Given the description of an element on the screen output the (x, y) to click on. 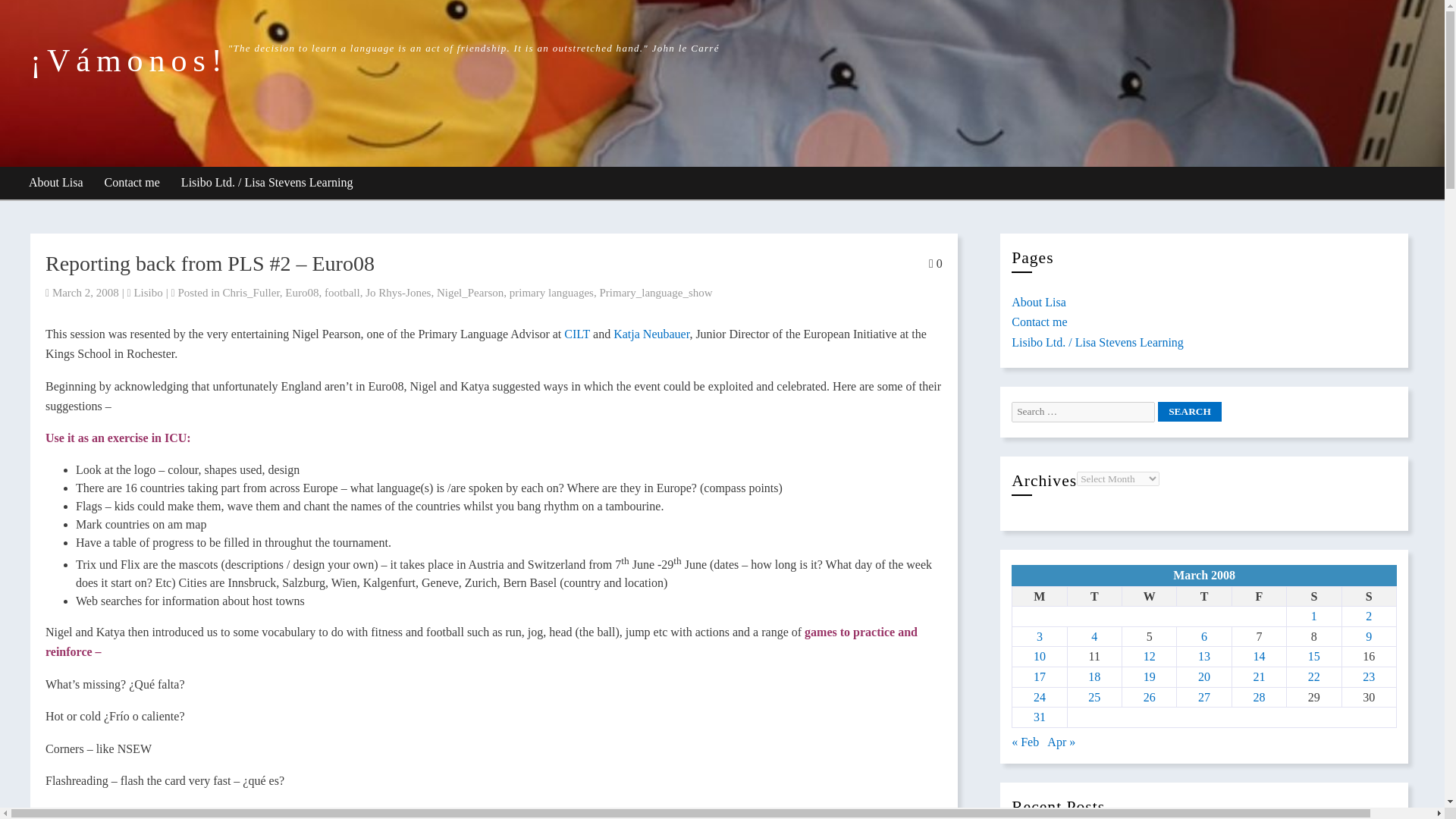
Lisibo (147, 292)
17 (1039, 676)
Contact me (1039, 321)
18 (1093, 676)
About Lisa (56, 183)
football (341, 292)
Contact me (132, 183)
Euro08 (301, 292)
CILT (574, 333)
About Lisa (1038, 301)
